Given the description of an element on the screen output the (x, y) to click on. 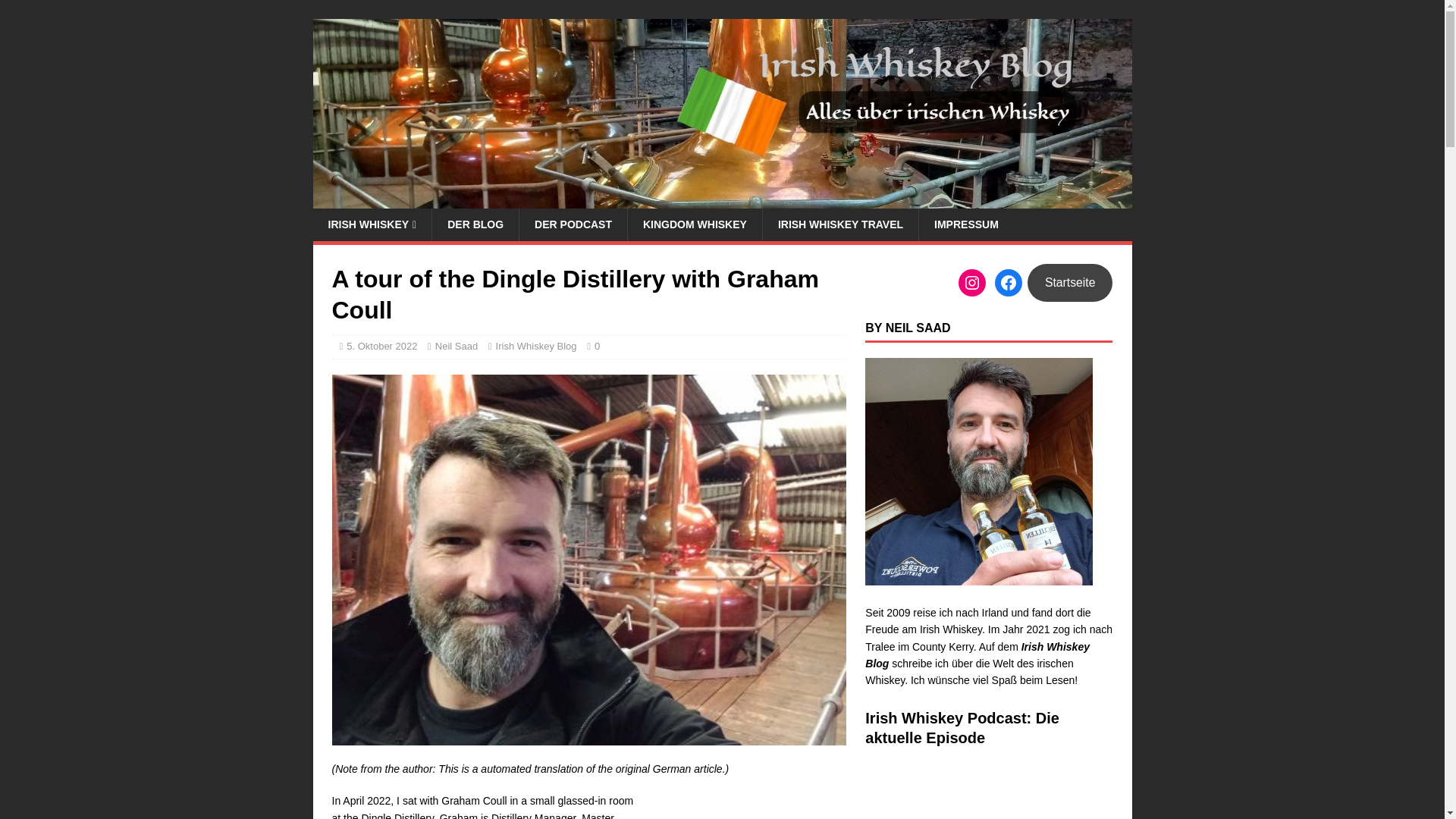
IRISH WHISKEY TRAVEL (839, 224)
Startseite (1070, 282)
DER BLOG (474, 224)
KINGDOM WHISKEY (694, 224)
DER PODCAST (572, 224)
IRISH WHISKEY (371, 224)
Spotify Embed: Irish Whiskey News Deutschland  (988, 792)
Irish Whiskey Blog (536, 346)
by Neil Saad (978, 471)
IMPRESSUM (965, 224)
Neil Saad (456, 346)
5. Oktober 2022 (381, 346)
